Given the description of an element on the screen output the (x, y) to click on. 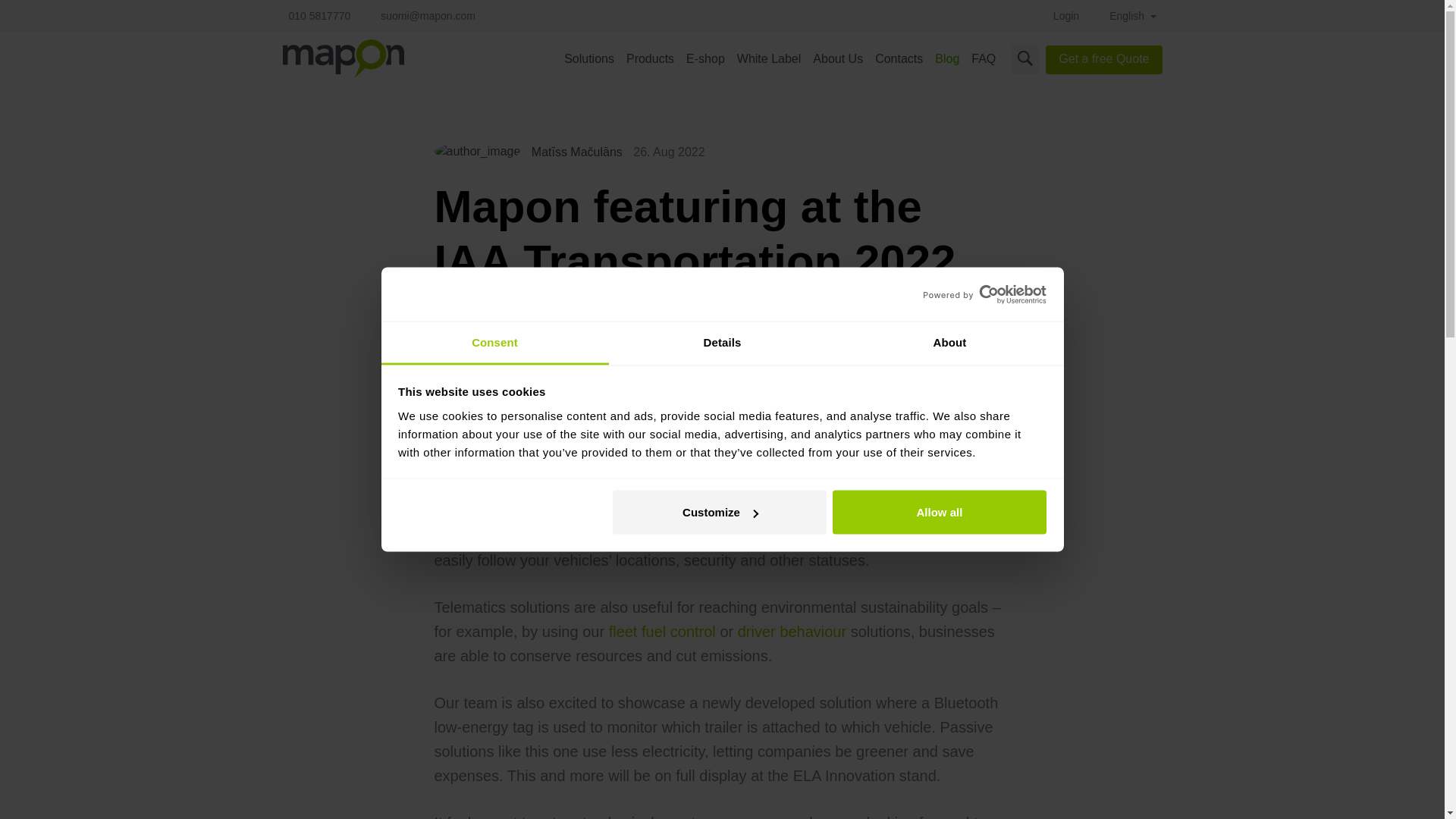
Consent (494, 342)
Customize (719, 512)
About (948, 342)
Details (721, 342)
Allow all (939, 512)
